Given the description of an element on the screen output the (x, y) to click on. 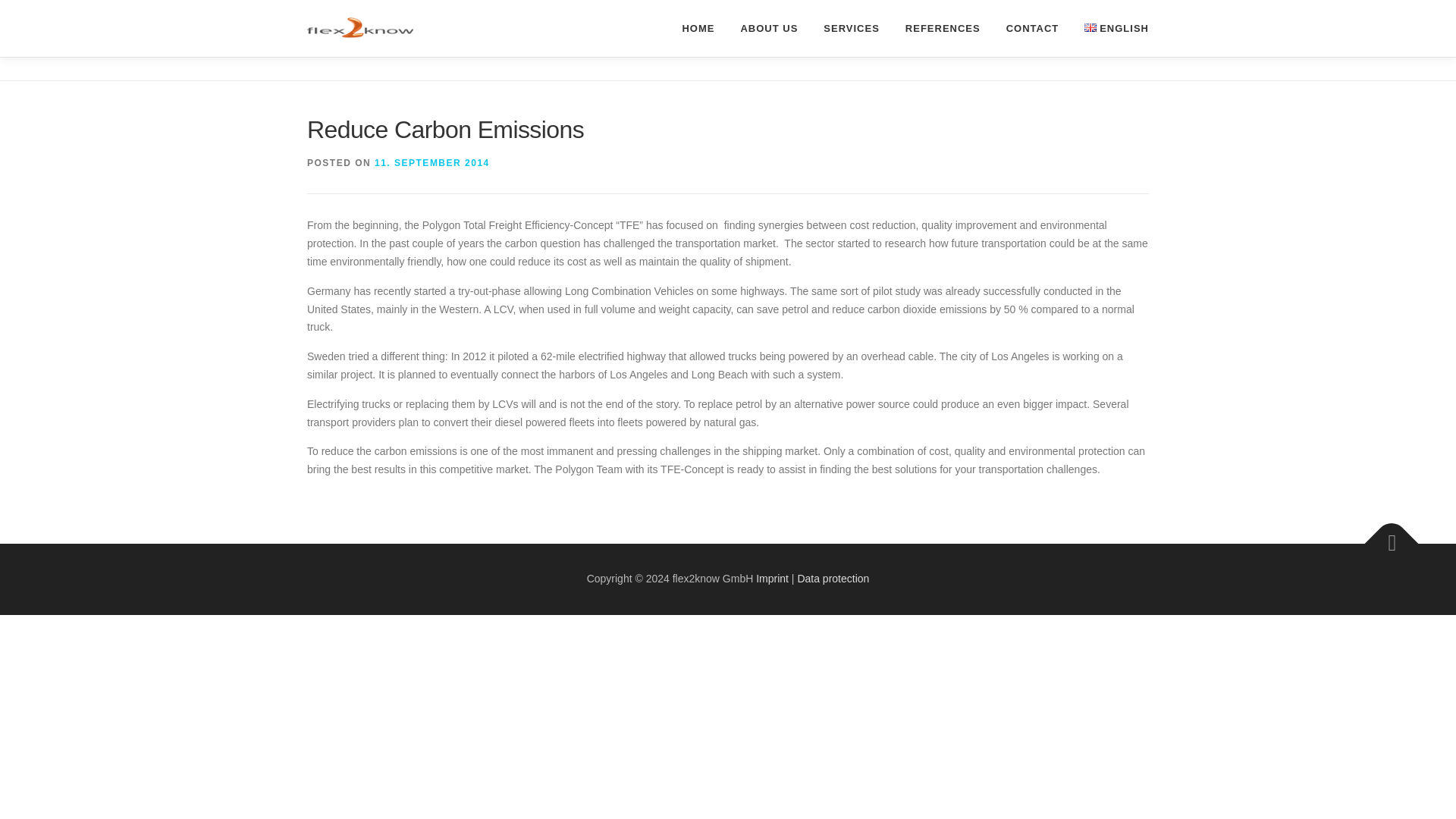
Back To Top (1384, 535)
ABOUT US (768, 28)
REFERENCES (942, 28)
Imprint (772, 578)
11. SEPTEMBER 2014 (431, 163)
HOME (697, 28)
Data protection (832, 578)
ENGLISH (1109, 28)
SERVICES (851, 28)
CONTACT (1031, 28)
